Given the description of an element on the screen output the (x, y) to click on. 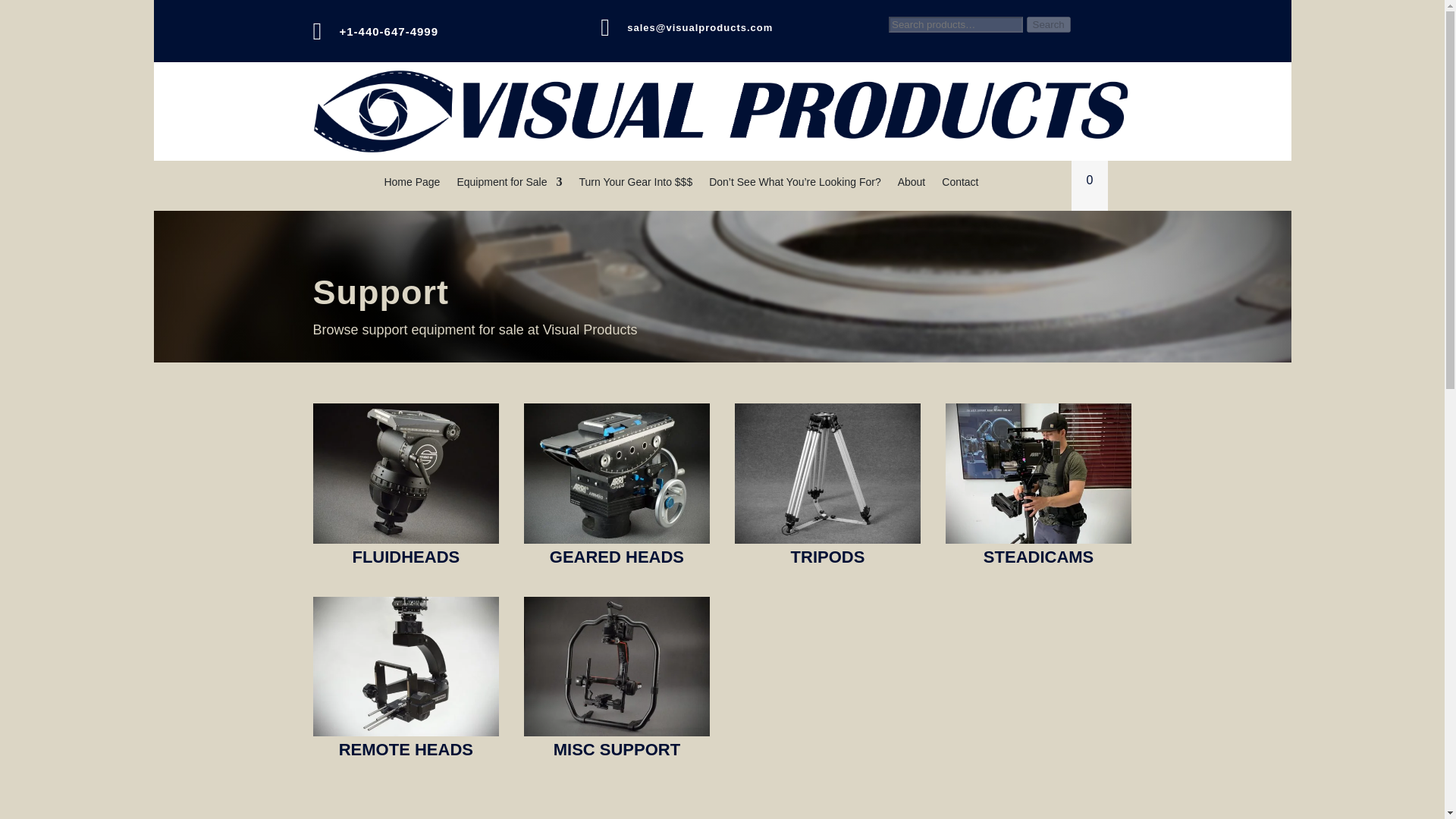
Remote Heads (406, 666)
Tripods (828, 472)
Misc Support (617, 666)
Steadicams (1038, 472)
Geared Heads (617, 472)
Visual-Products-Home-Page-Logo (722, 111)
Fluidheads (406, 472)
